Given the description of an element on the screen output the (x, y) to click on. 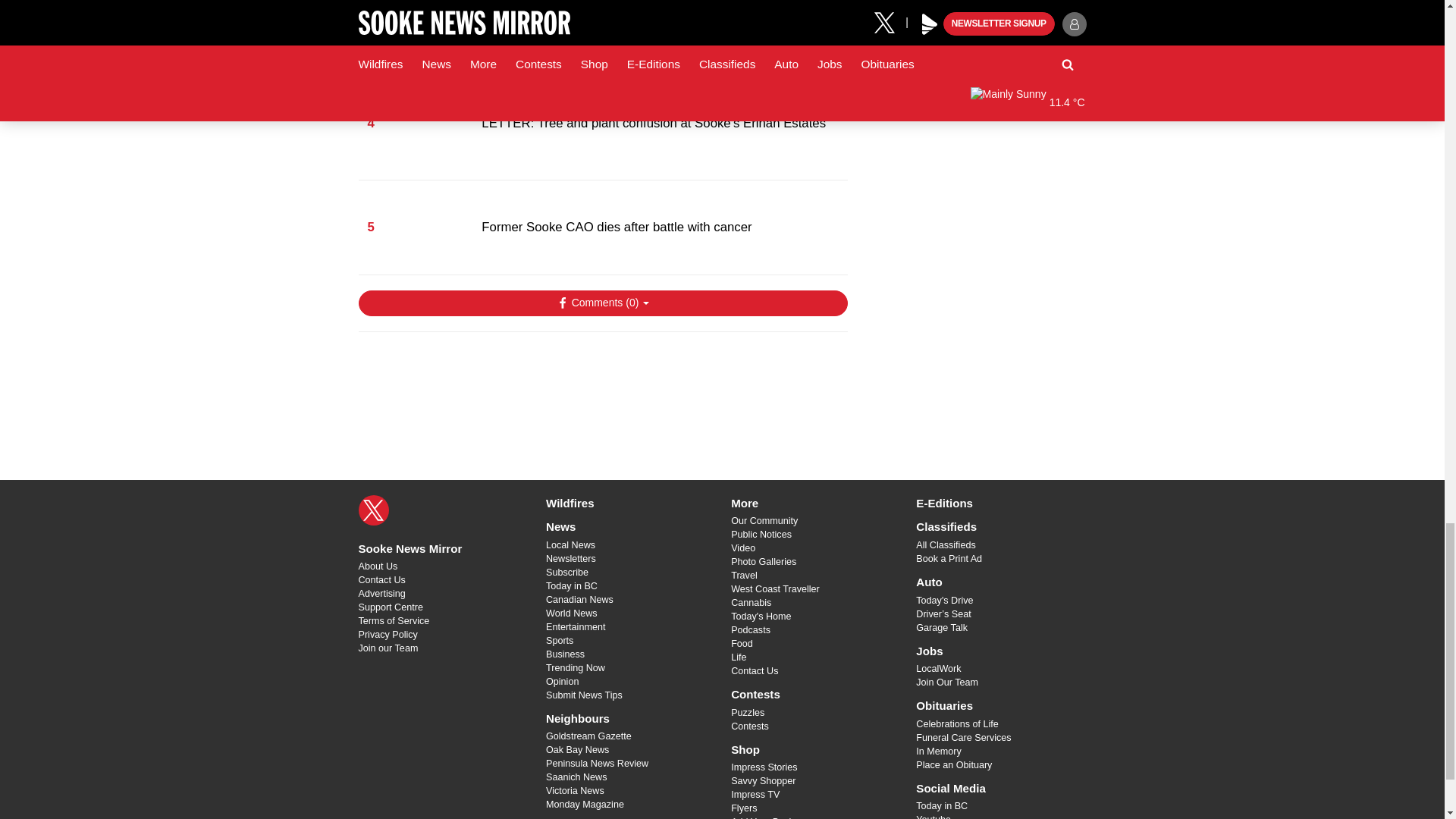
Show Comments (602, 303)
X (373, 510)
